Given the description of an element on the screen output the (x, y) to click on. 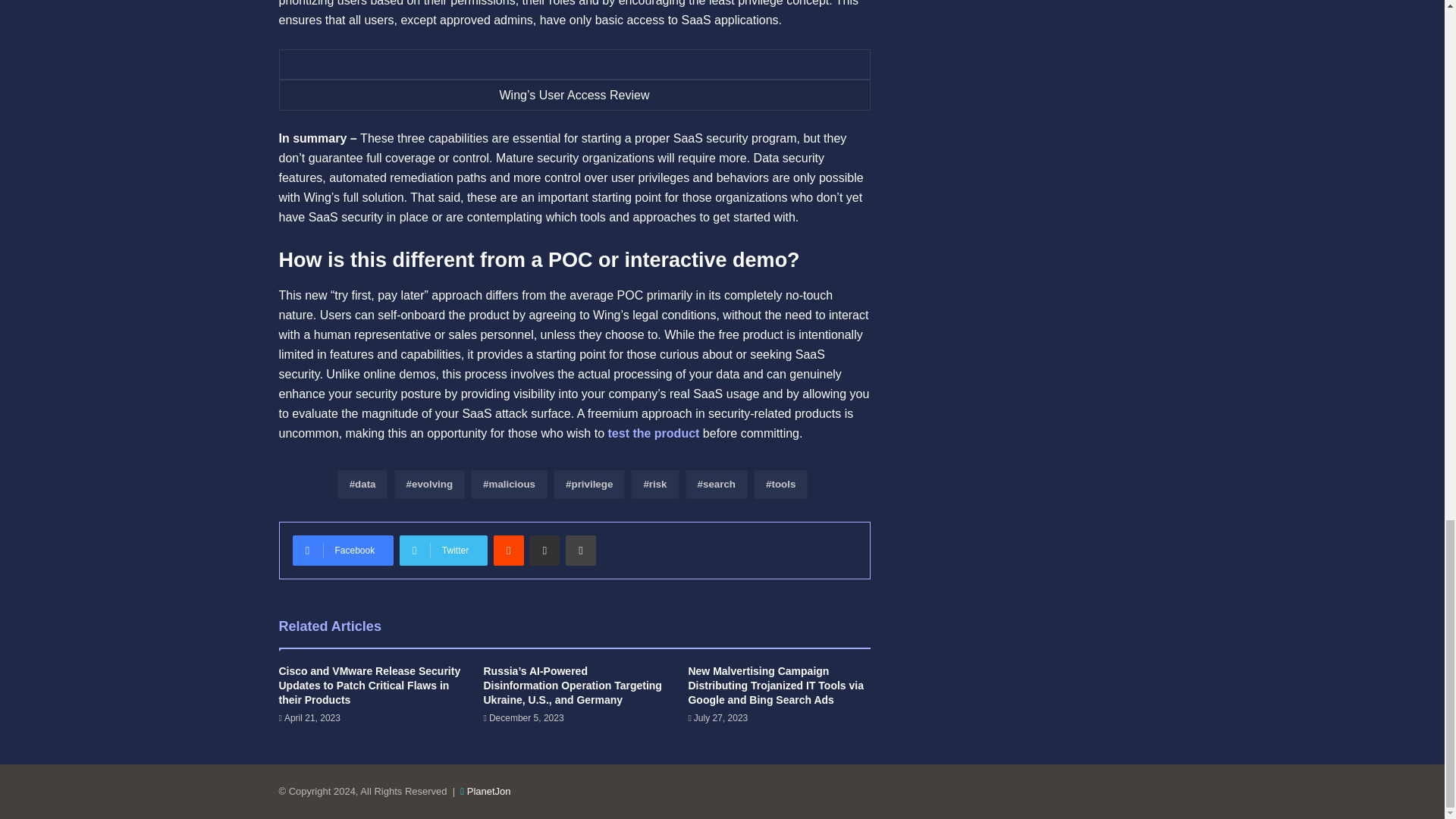
Facebook (343, 550)
test the product (654, 432)
Print (580, 550)
Reddit (508, 550)
malicious (508, 484)
tools (781, 484)
Share via Email (544, 550)
risk (654, 484)
Print (580, 550)
Facebook (343, 550)
Twitter (442, 550)
Reddit (508, 550)
data (362, 484)
